Given the description of an element on the screen output the (x, y) to click on. 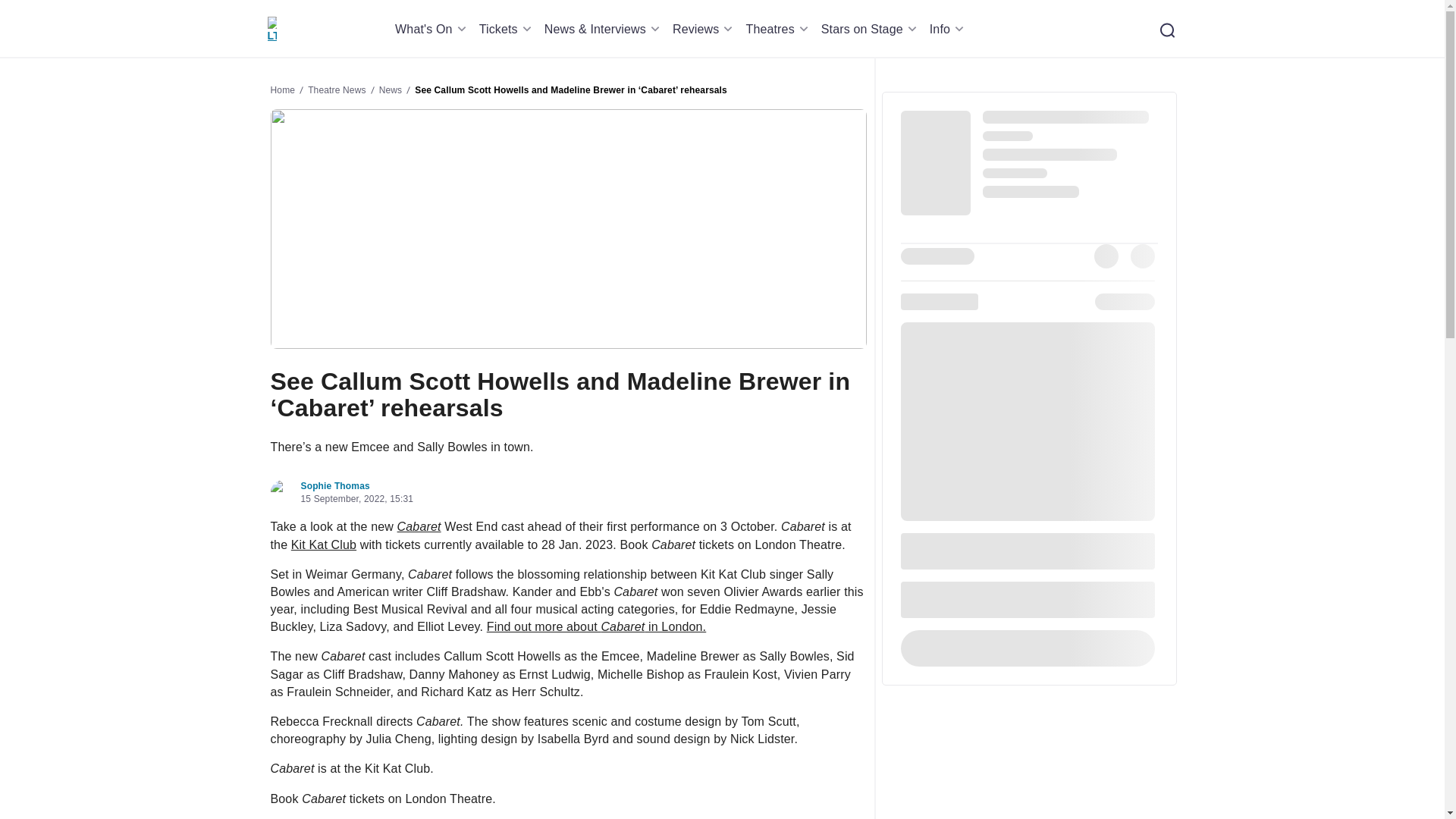
Tickets (508, 28)
Home (271, 28)
Reviews (705, 28)
What's On (432, 28)
